Given the description of an element on the screen output the (x, y) to click on. 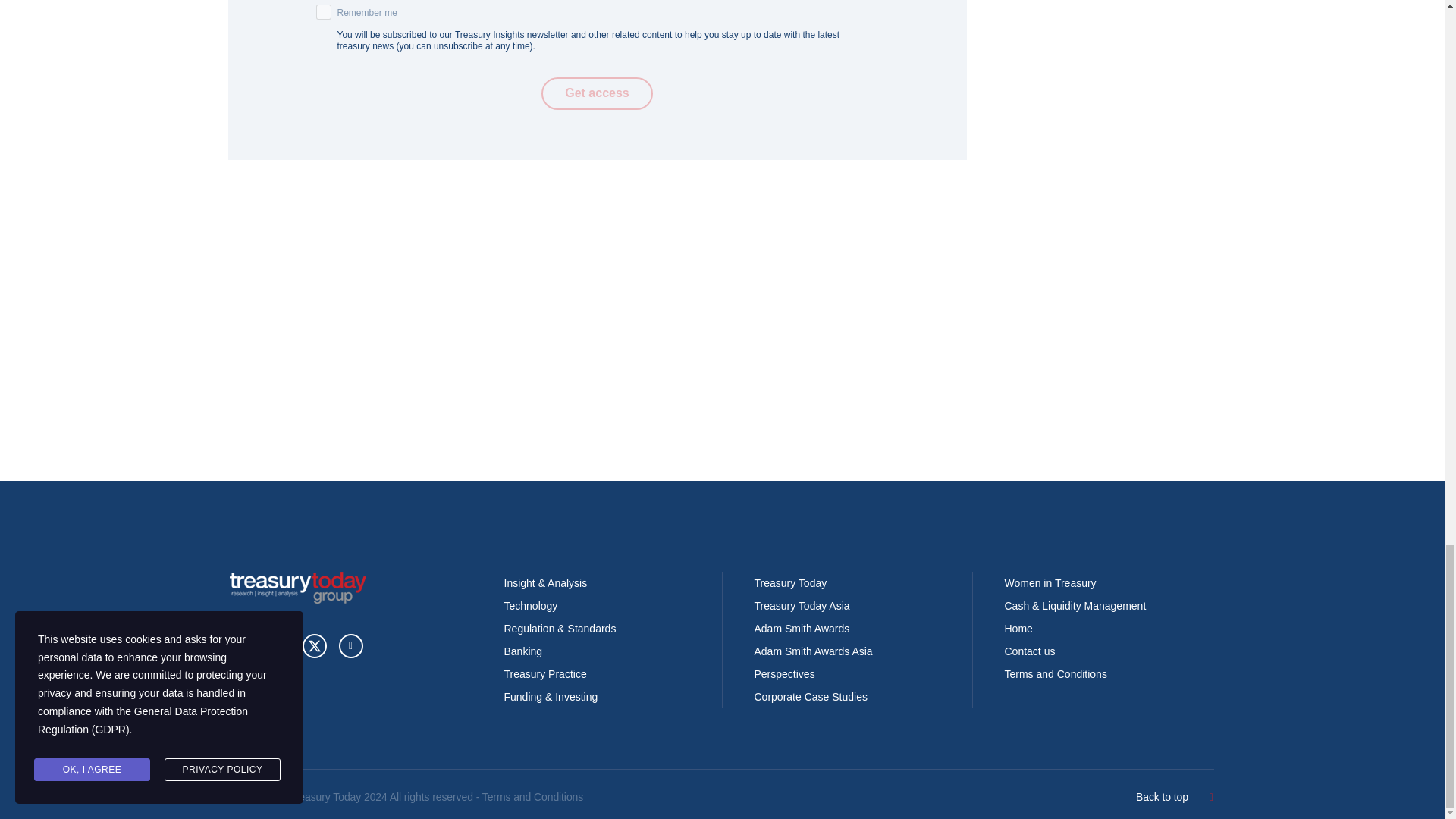
on (322, 11)
